Given the description of an element on the screen output the (x, y) to click on. 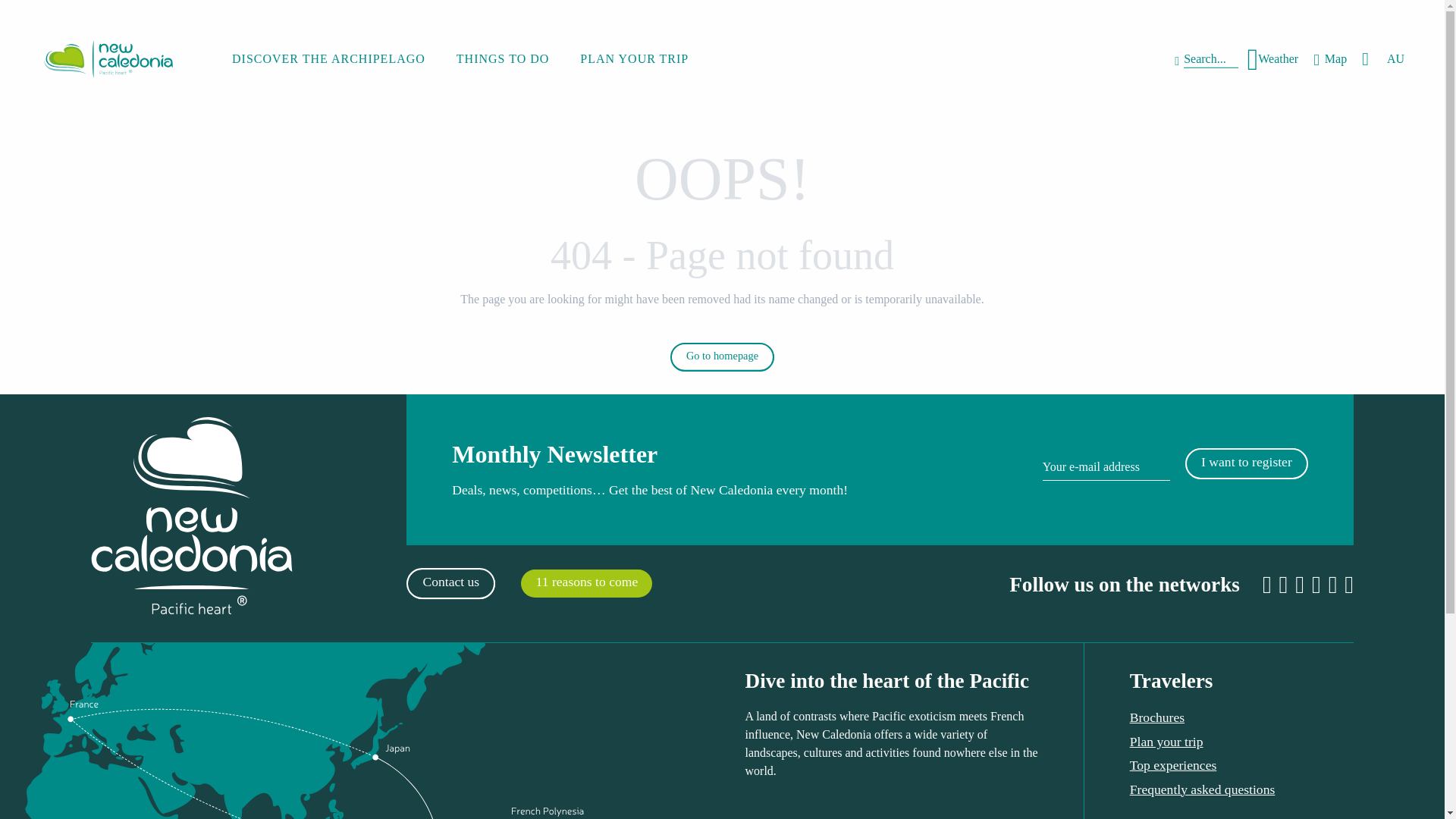
Favoris (1366, 59)
Contact us (450, 583)
11 reasons to come (586, 583)
Plan your trip (1166, 741)
Top experiences (1173, 765)
Weather (1272, 59)
Brochures (1157, 717)
DISCOVER THE ARCHIPELAGO (327, 59)
Map (1129, 469)
Map (1329, 59)
Weather (1329, 59)
Frequently asked questions (1272, 59)
